Given the description of an element on the screen output the (x, y) to click on. 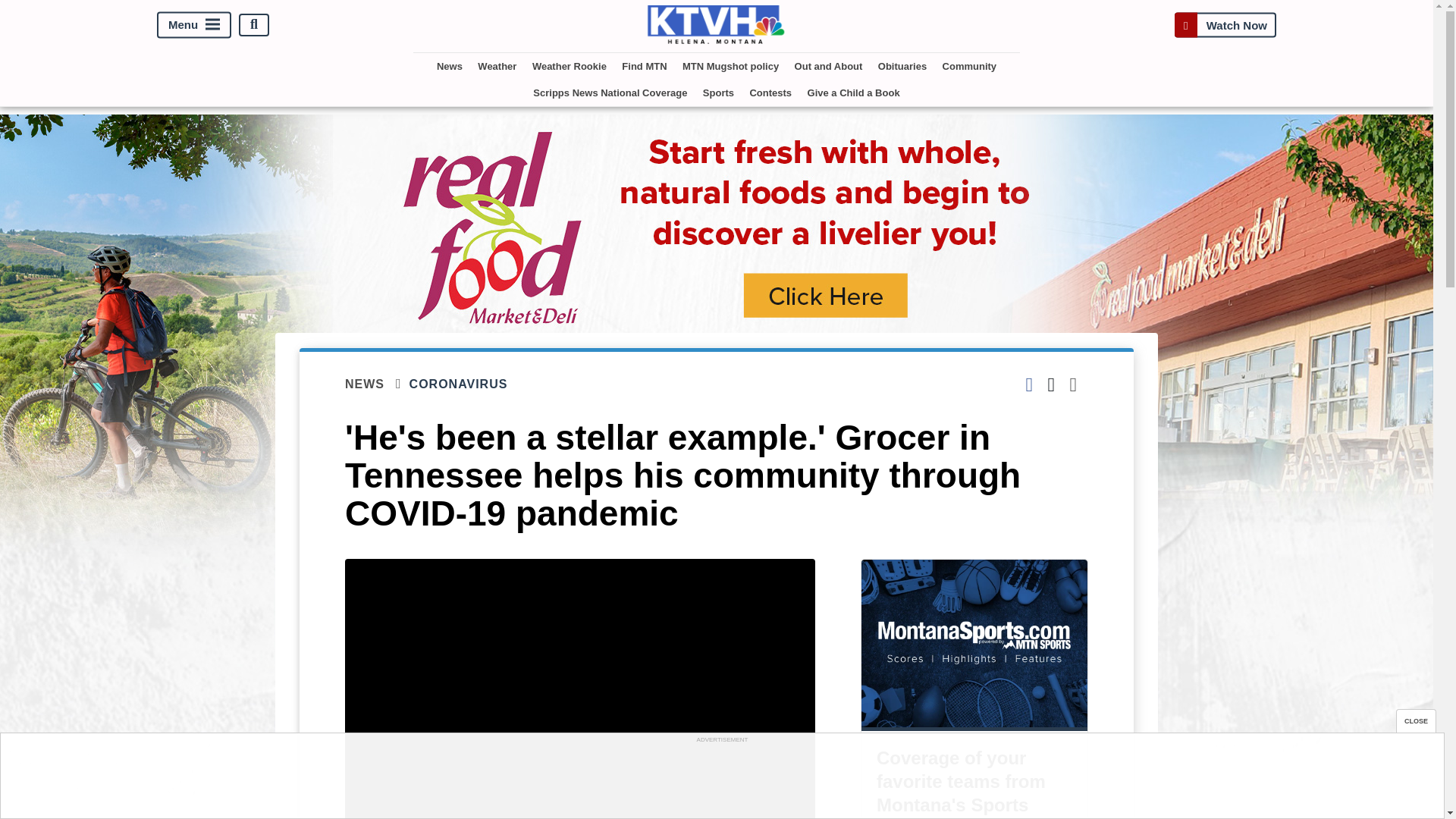
Watch Now (1224, 24)
3rd party ad content (721, 780)
Menu (194, 24)
